Given the description of an element on the screen output the (x, y) to click on. 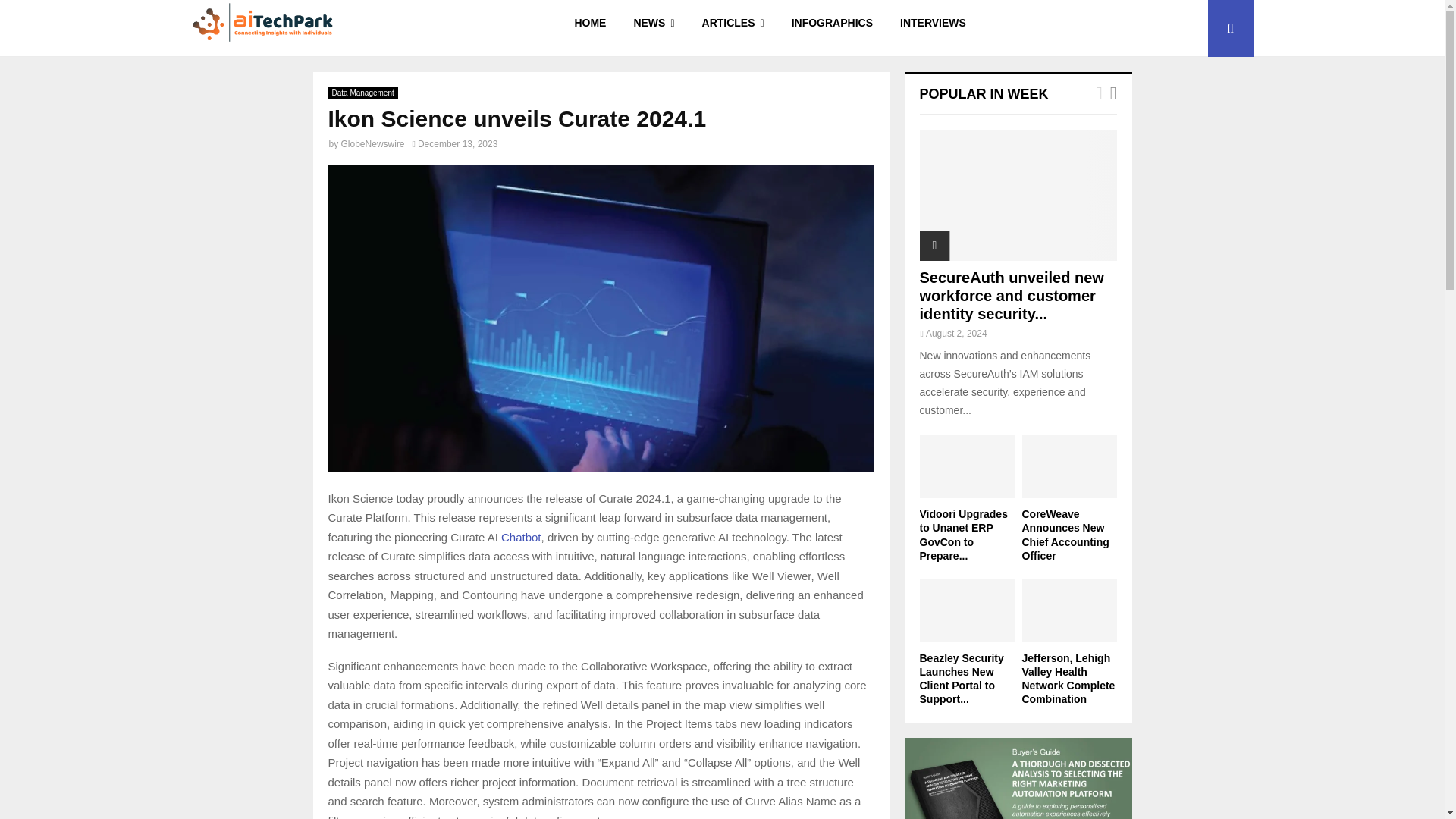
 CoreWeave Announces New Chief Accounting Officer  (1065, 534)
Jefferson, Lehigh Valley Health Network Complete Combination (1069, 610)
CoreWeave Announces New Chief Accounting Officer (1069, 465)
Vidoori Upgrades to Unanet ERP GovCon to Prepare for Growth (965, 465)
HOME (590, 28)
